Given the description of an element on the screen output the (x, y) to click on. 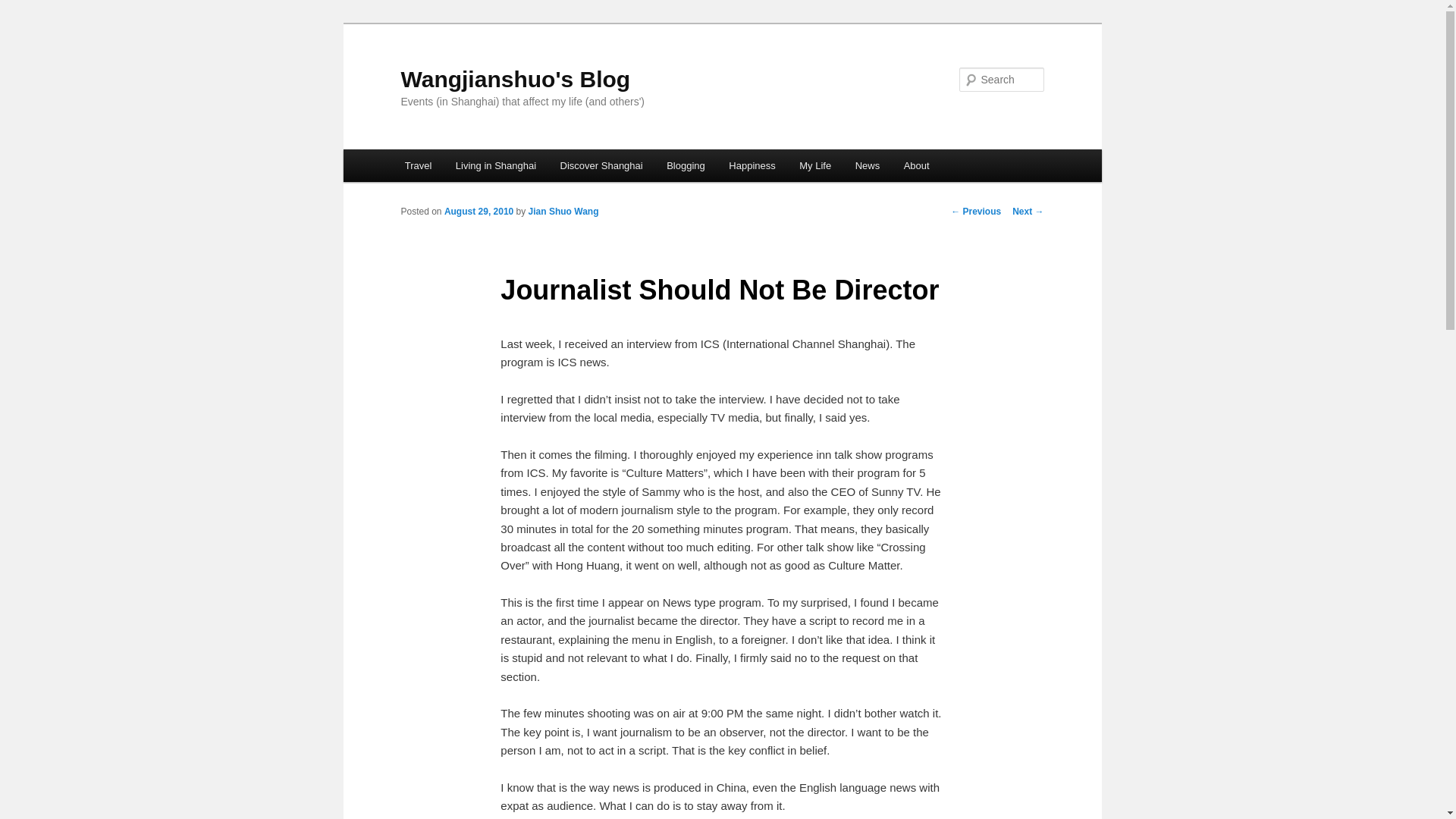
View all posts by Jian Shuo Wang (563, 211)
Travel (418, 165)
Wangjianshuo's Blog (515, 78)
Search (24, 8)
1:01 am (478, 211)
Living in Shanghai (496, 165)
